Given the description of an element on the screen output the (x, y) to click on. 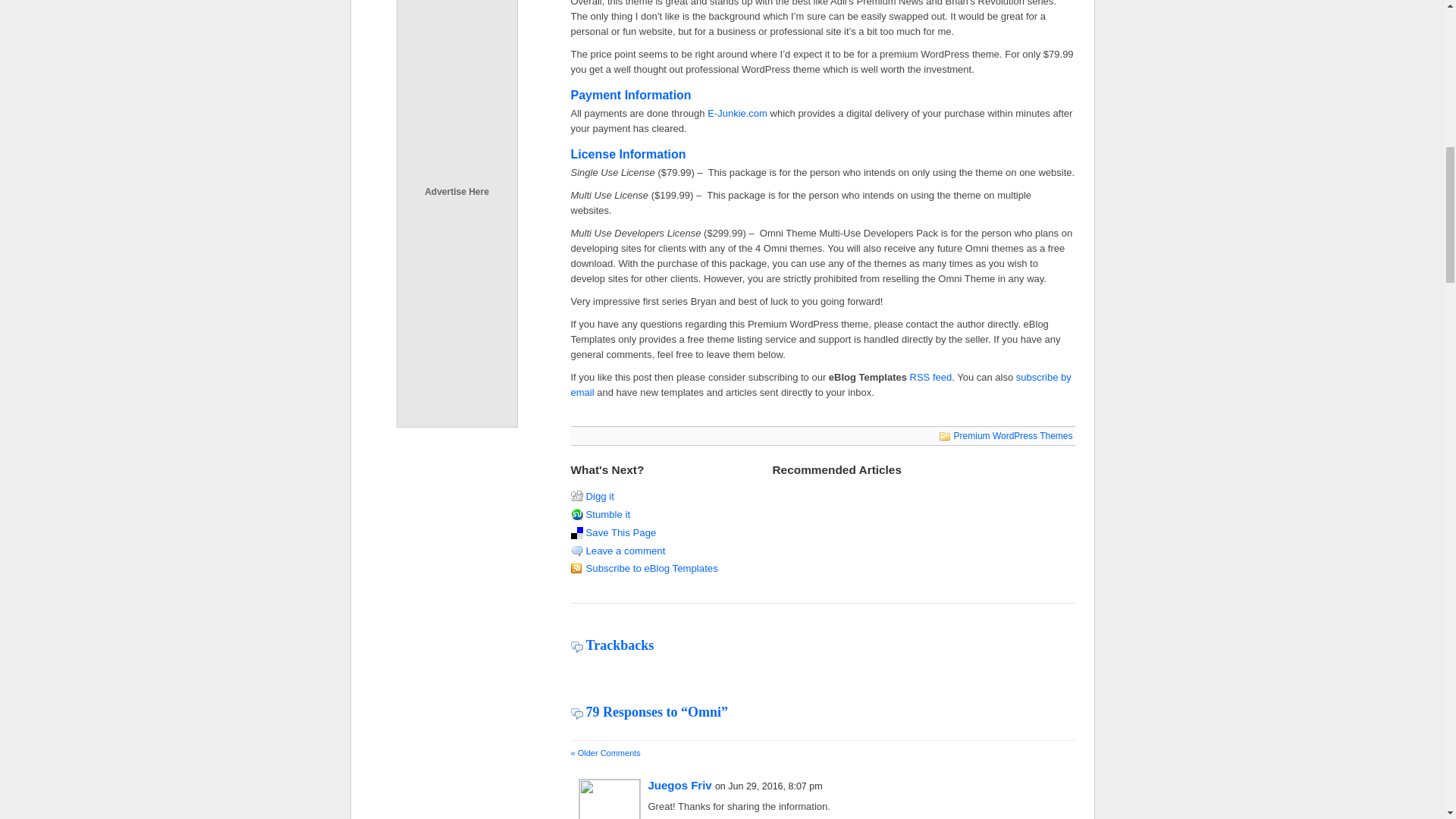
subscribe by email (820, 384)
E-Junkie.com (737, 112)
RSS feed (931, 377)
Premium WordPress Themes (1013, 435)
